Given the description of an element on the screen output the (x, y) to click on. 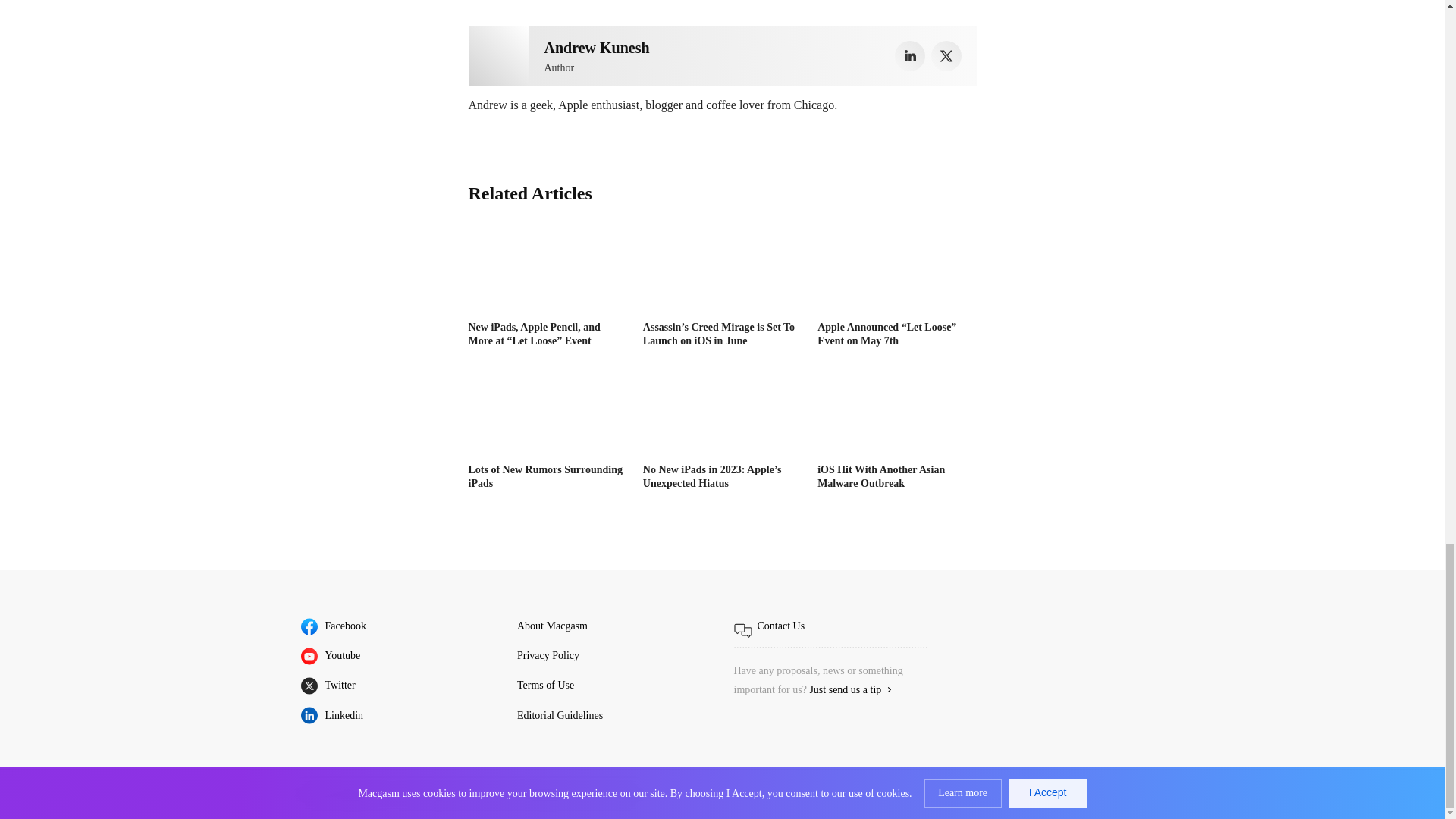
Twitter (945, 55)
Andrew Kunesh (498, 55)
Andrew Kunesh (596, 47)
Linkedin (909, 55)
